Given the description of an element on the screen output the (x, y) to click on. 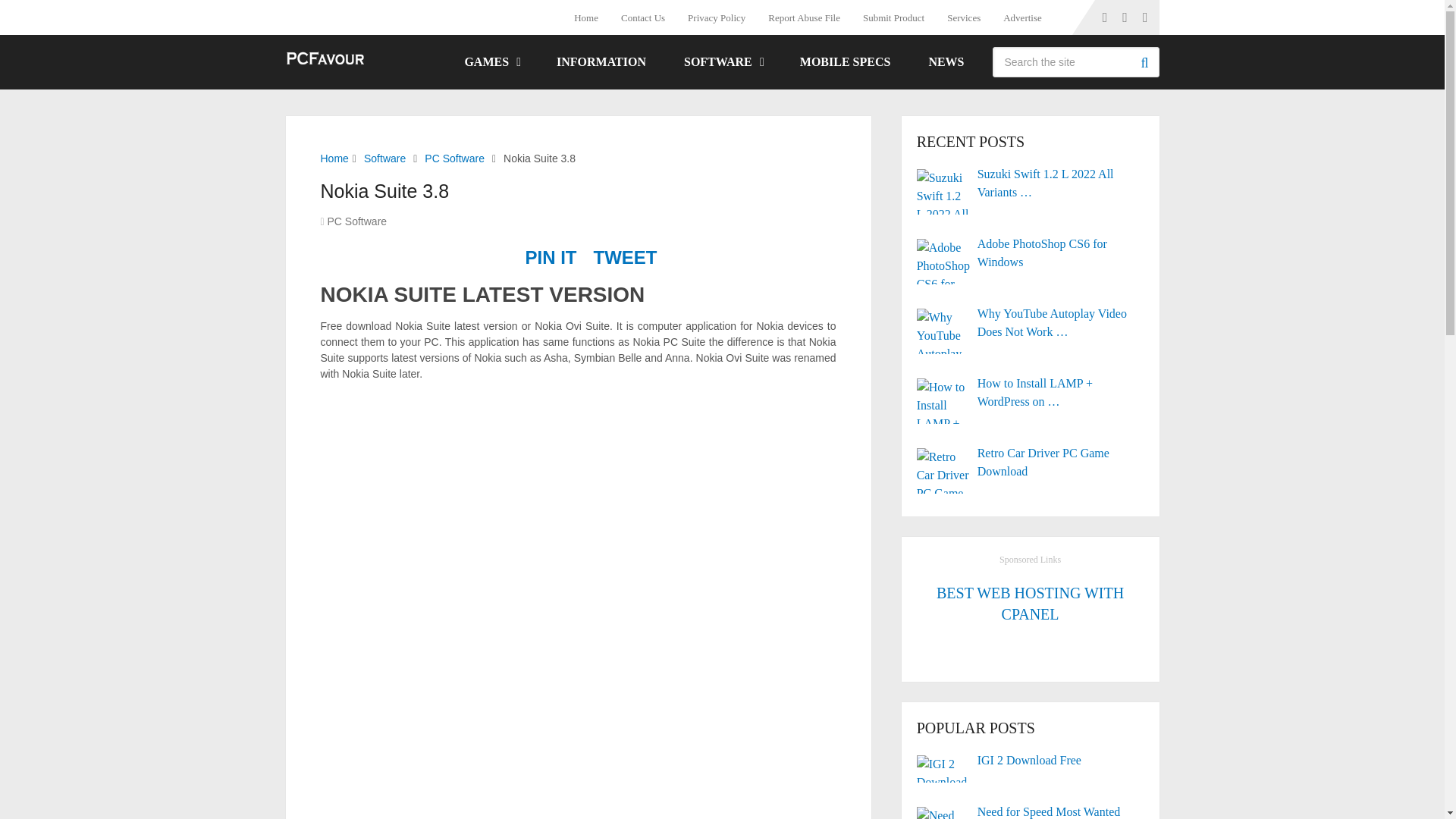
INFORMATION (601, 62)
Services (963, 17)
Report Abuse File (804, 17)
Suzuki Swift 1.2 L 2022 All Variants Comparison (1030, 183)
SOFTWARE (722, 62)
Search (1143, 61)
MOBILE SPECS (845, 62)
PC Software (357, 221)
Home (333, 158)
Privacy Policy (717, 17)
PIN IT (550, 257)
View all posts in PC Software (357, 221)
Software (385, 158)
PC Software (454, 158)
Advertise (1021, 17)
